Given the description of an element on the screen output the (x, y) to click on. 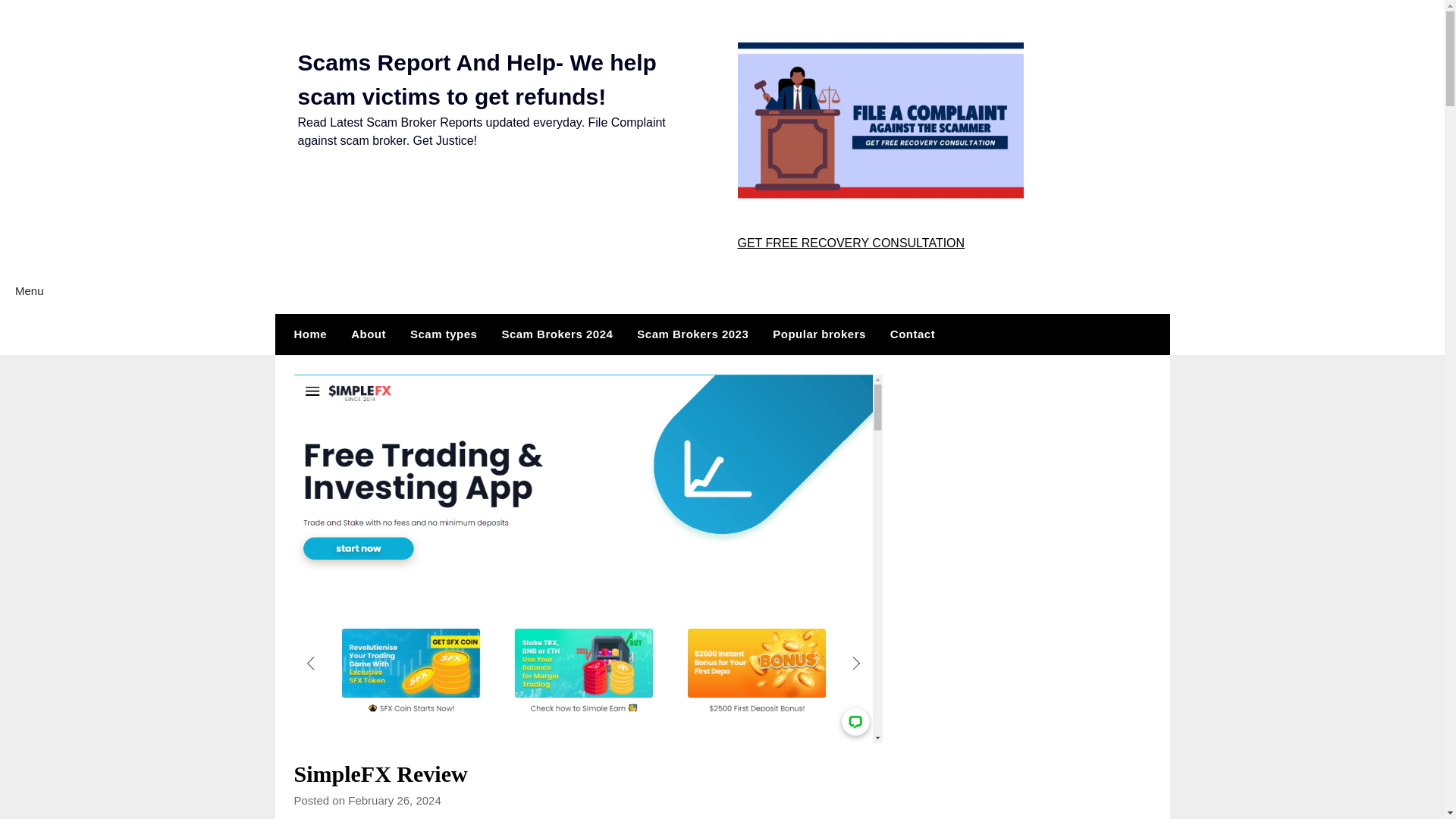
About (368, 333)
Home (307, 333)
Scam Brokers 2024 (556, 333)
GET FREE RECOVERY CONSULTATION (849, 242)
Popular brokers (818, 333)
Scam Brokers 2023 (692, 333)
Scams Report And Help- We help scam victims to get refunds! (476, 78)
Contact (912, 333)
Scam types (443, 333)
